Given the description of an element on the screen output the (x, y) to click on. 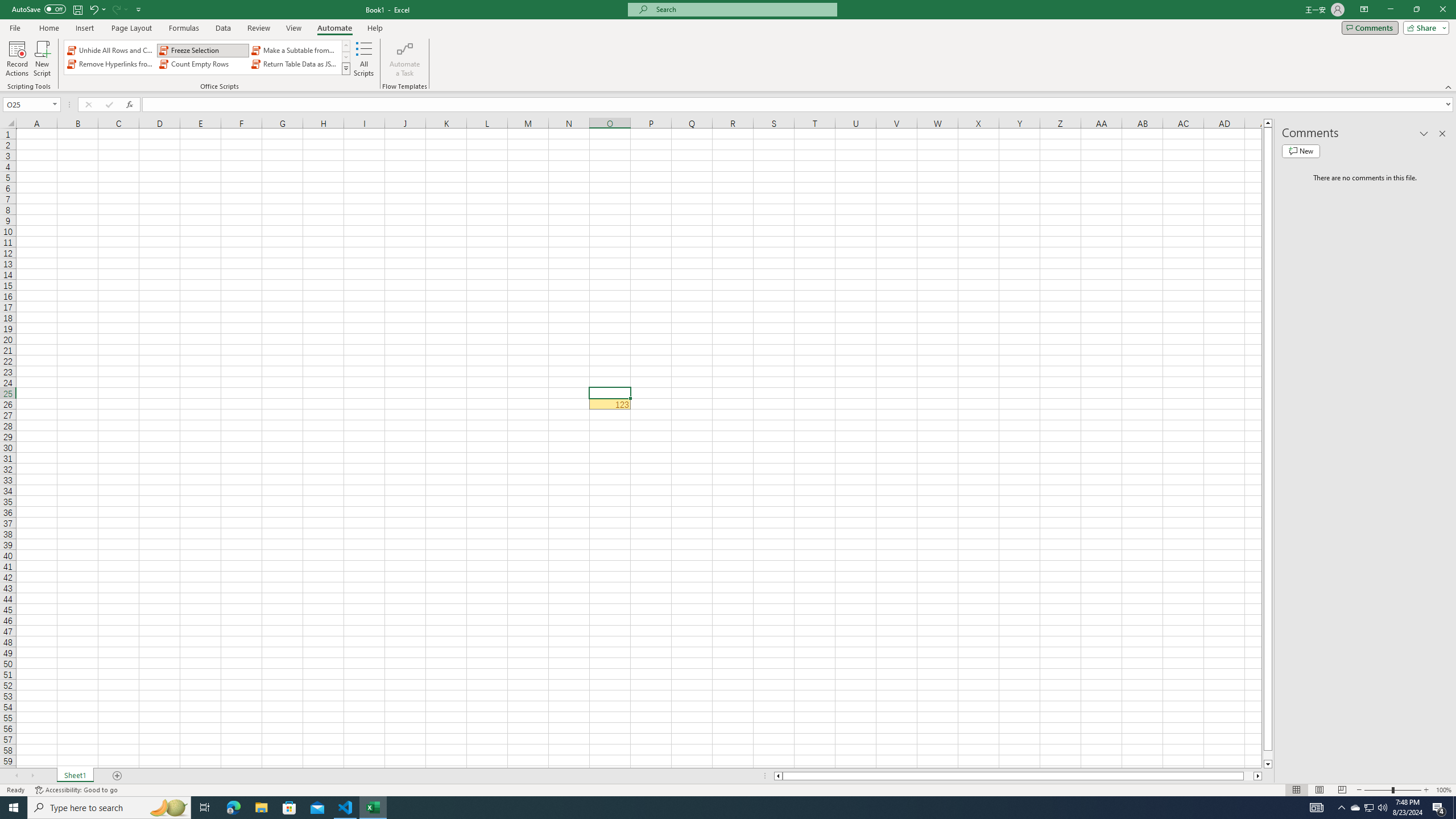
Microsoft search (742, 9)
Line up (1267, 122)
Name Box (30, 104)
Close (1442, 9)
Redo (115, 9)
Task Pane Options (1423, 133)
System (6, 6)
Help (374, 28)
Page down (1267, 755)
Page Layout (1318, 790)
AutomationID: OfficeScriptsGallery (207, 57)
Sheet1 (74, 775)
Return Table Data as JSON (294, 64)
Class: NetUIImage (345, 68)
Office Scripts (346, 68)
